Given the description of an element on the screen output the (x, y) to click on. 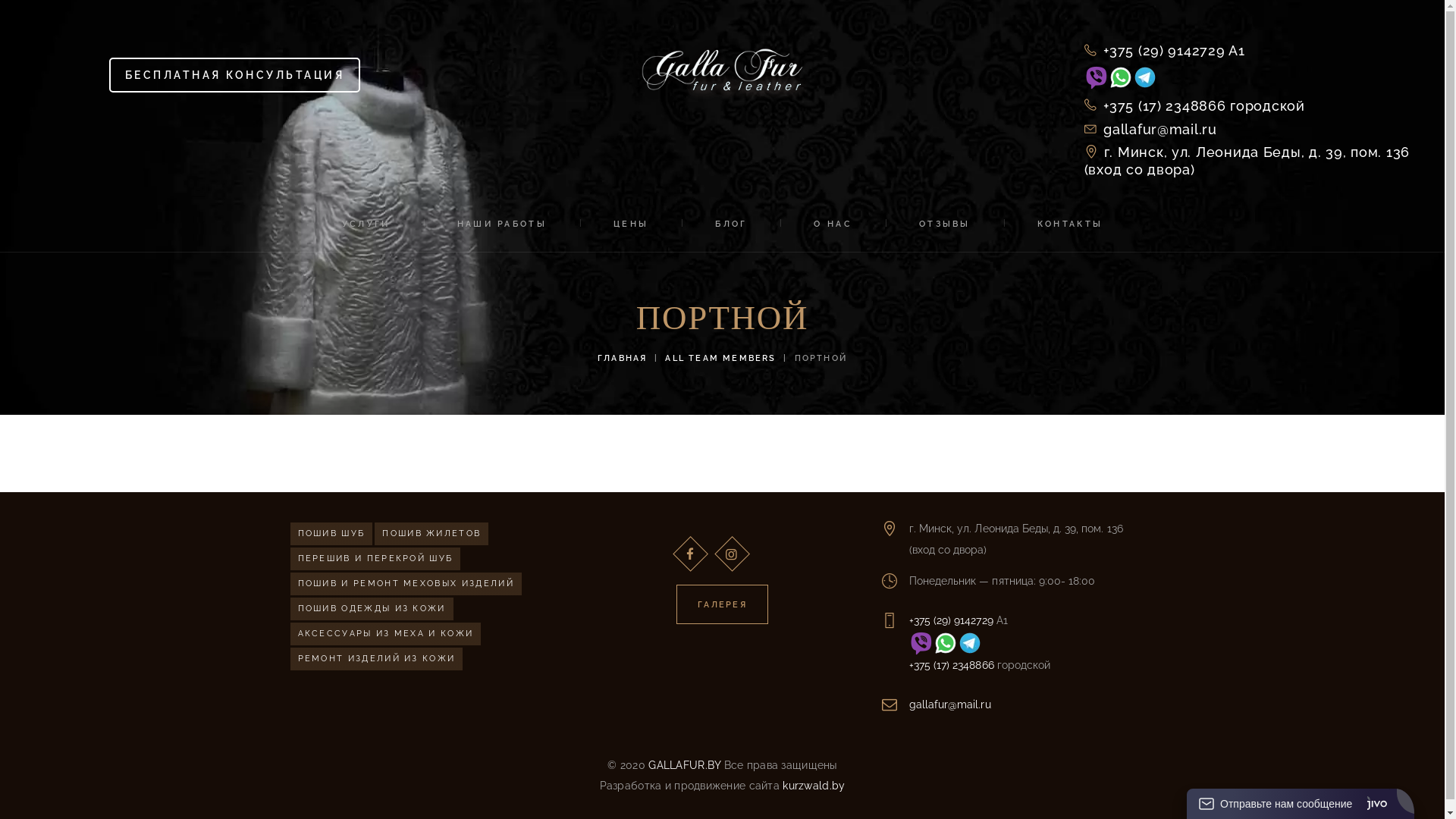
+375 (29) 9142729 A1 Element type: text (1248, 49)
GALLAFUR.BY Element type: text (684, 765)
gallafur@mail.ru Element type: text (950, 704)
+375 (17) 2348866 Element type: text (951, 664)
ALL TEAM MEMBERS Element type: text (720, 358)
+375 (29) 9142729 Element type: text (951, 620)
gallafur@mail.ru Element type: text (1150, 128)
 kurzwald.by Element type: text (811, 785)
